Given the description of an element on the screen output the (x, y) to click on. 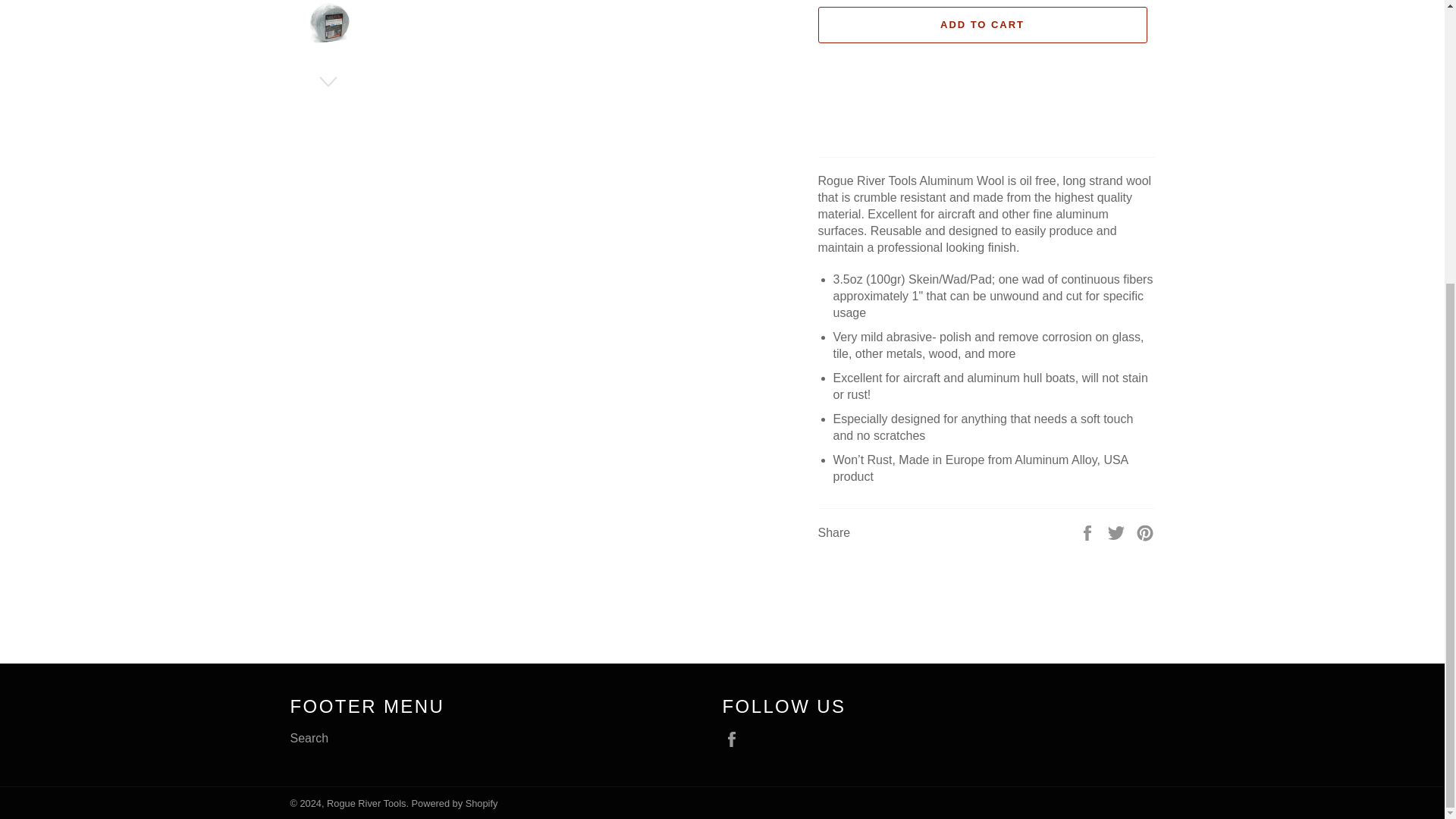
Rogue River Tools on Facebook (735, 739)
Tweet on Twitter (1117, 531)
Pin on Pinterest (1144, 531)
Share on Facebook (1088, 531)
